Given the description of an element on the screen output the (x, y) to click on. 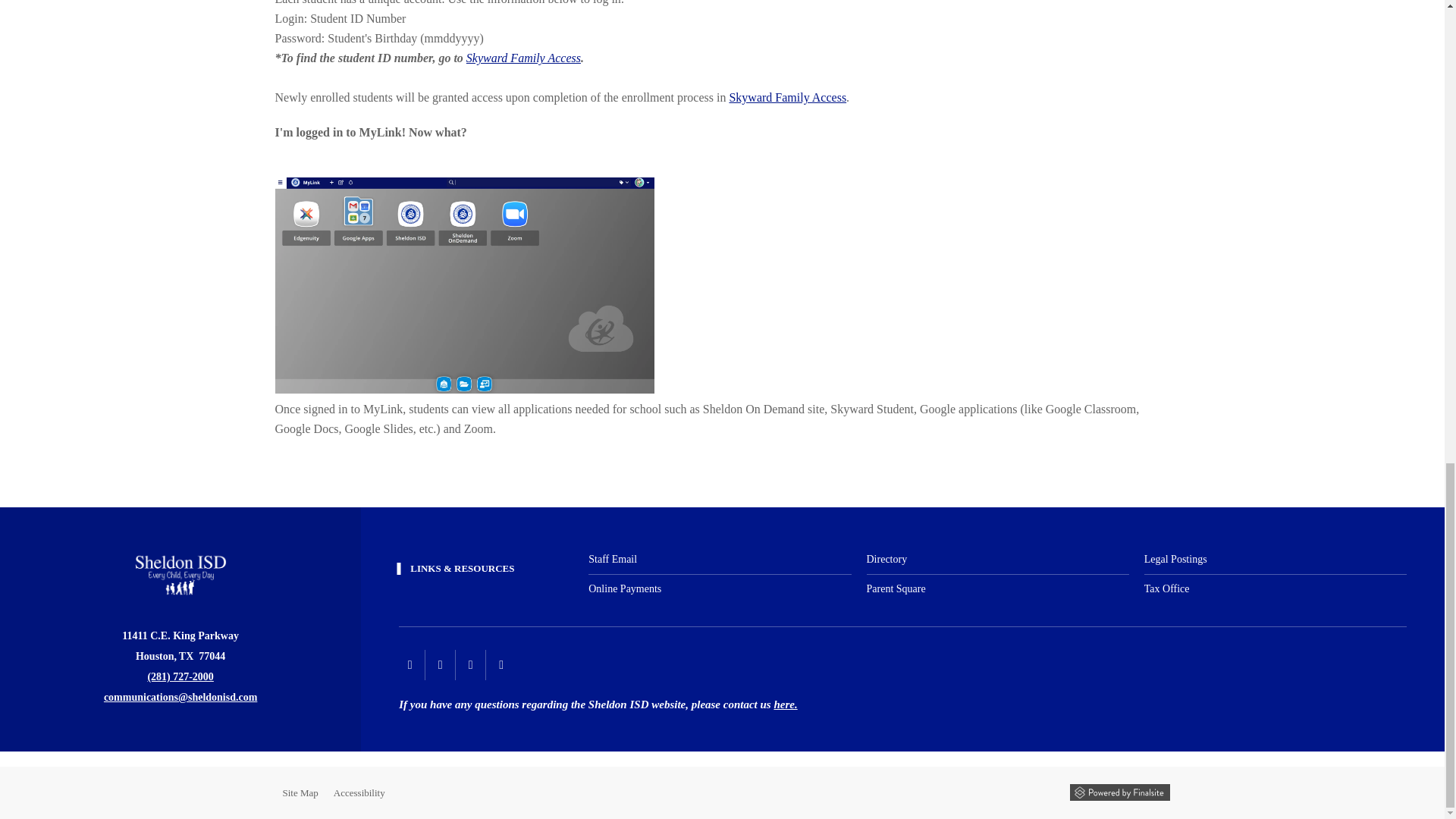
Email (180, 696)
Powered by Finalsite opens in a new window (1118, 791)
